Given the description of an element on the screen output the (x, y) to click on. 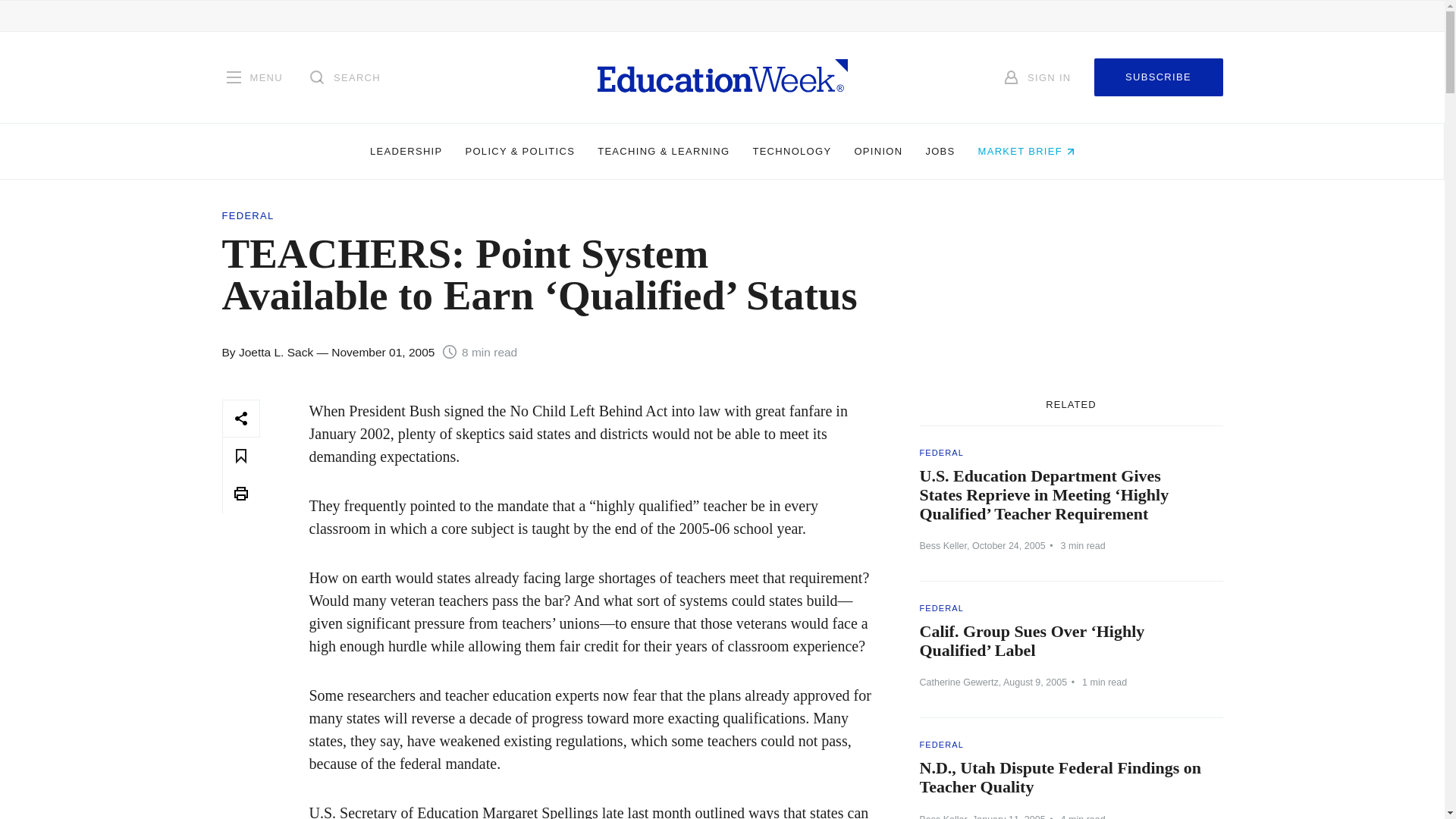
Homepage (721, 76)
